Given the description of an element on the screen output the (x, y) to click on. 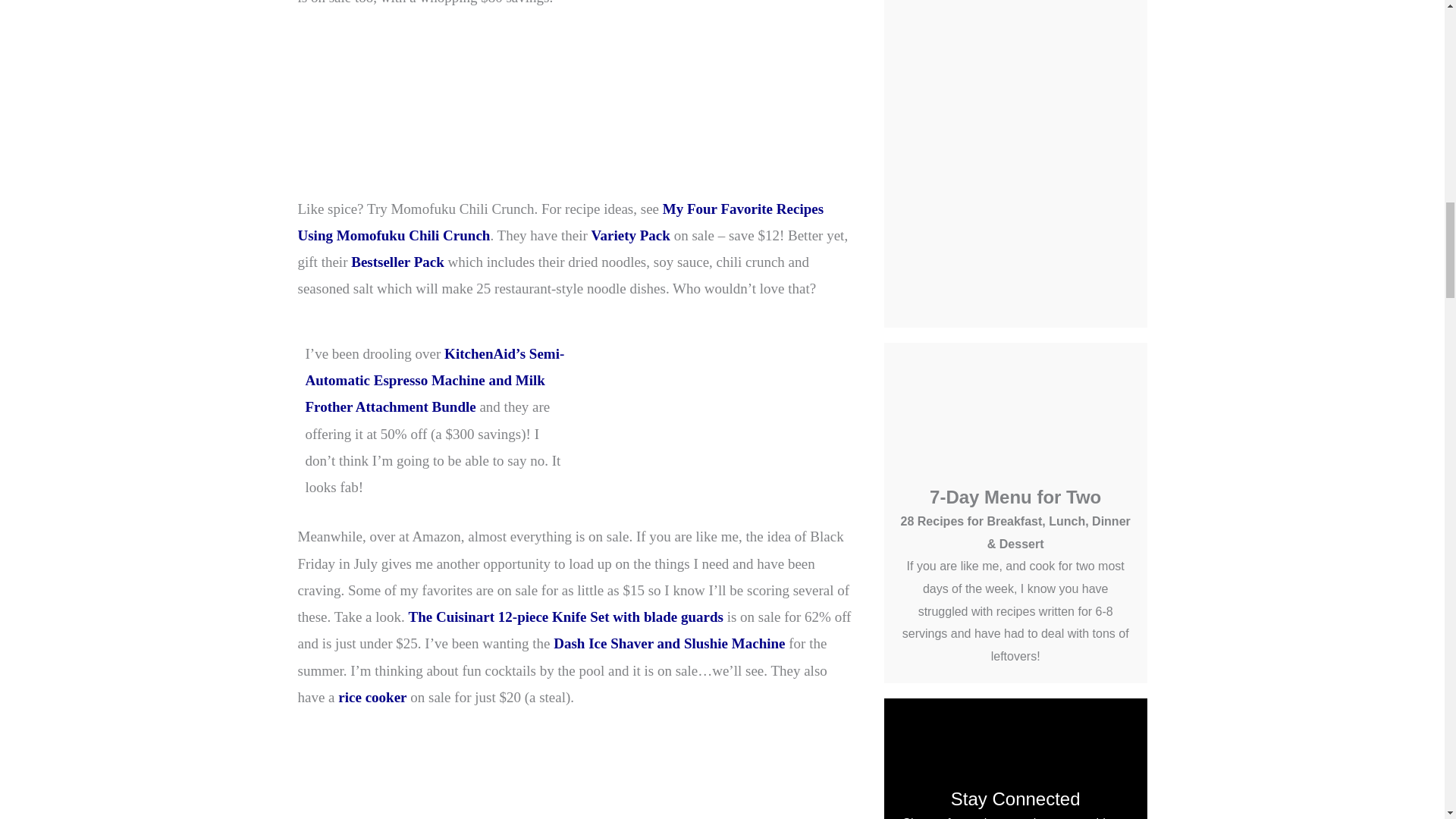
My Curated Tastes (389, 114)
My Curated Tastes (630, 235)
My Curated Tastes (560, 221)
My Curated Tastes (398, 261)
kitchenaid artisan mini 3.5 quart tilt head stand mixer (575, 115)
kitchenaid 4.5 quart tilt head stand mixer (389, 115)
kitchenaid variable speed blender (760, 115)
My Curated Tastes (434, 380)
My Curated Tastes (575, 114)
My Curated Tastes (760, 114)
